Given the description of an element on the screen output the (x, y) to click on. 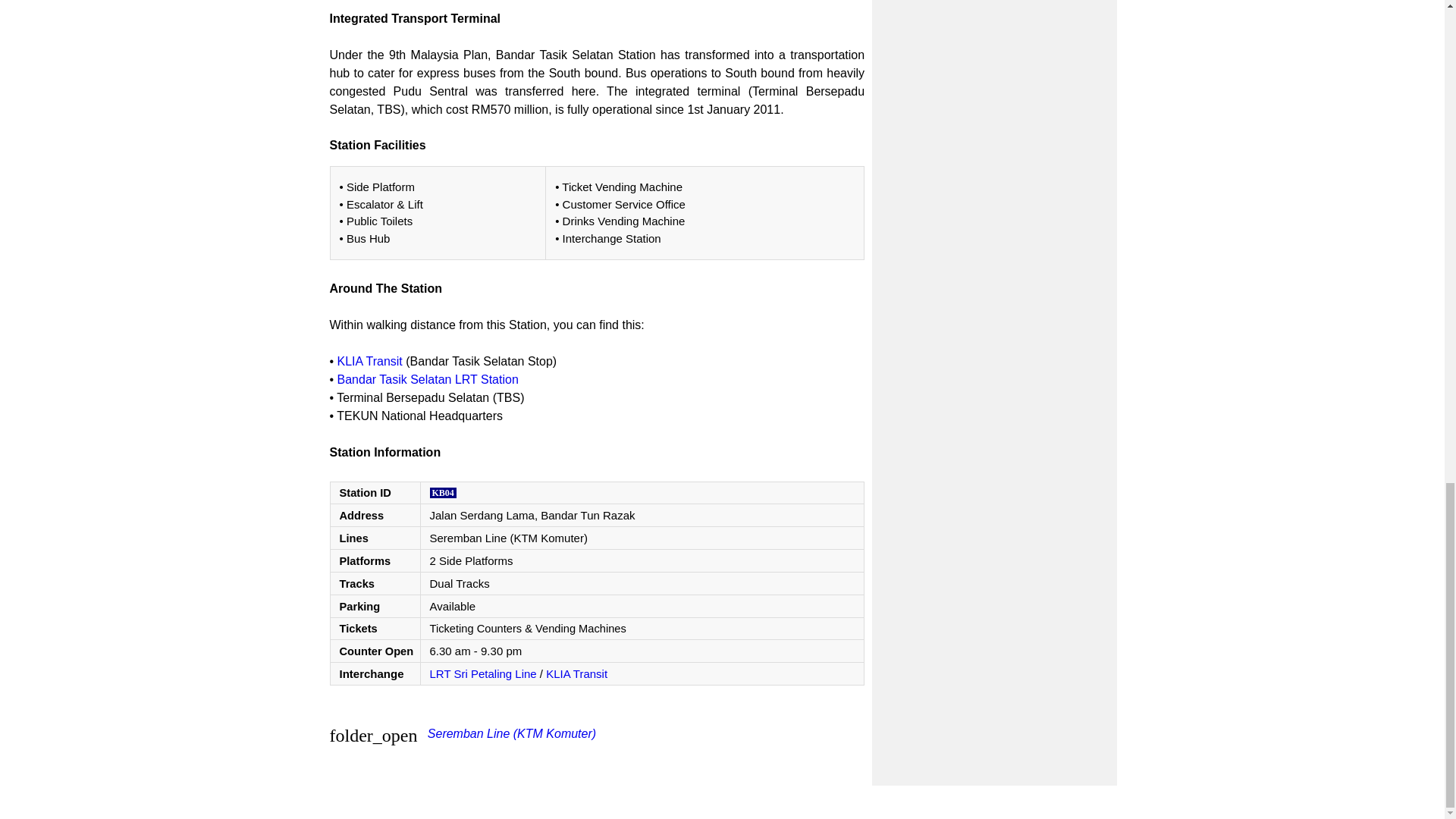
KLIA Transit (370, 360)
LRT Sri Petaling Line (482, 673)
KLIA Transit (576, 673)
Bandar Tasik Selatan LRT Station (427, 379)
